Given the description of an element on the screen output the (x, y) to click on. 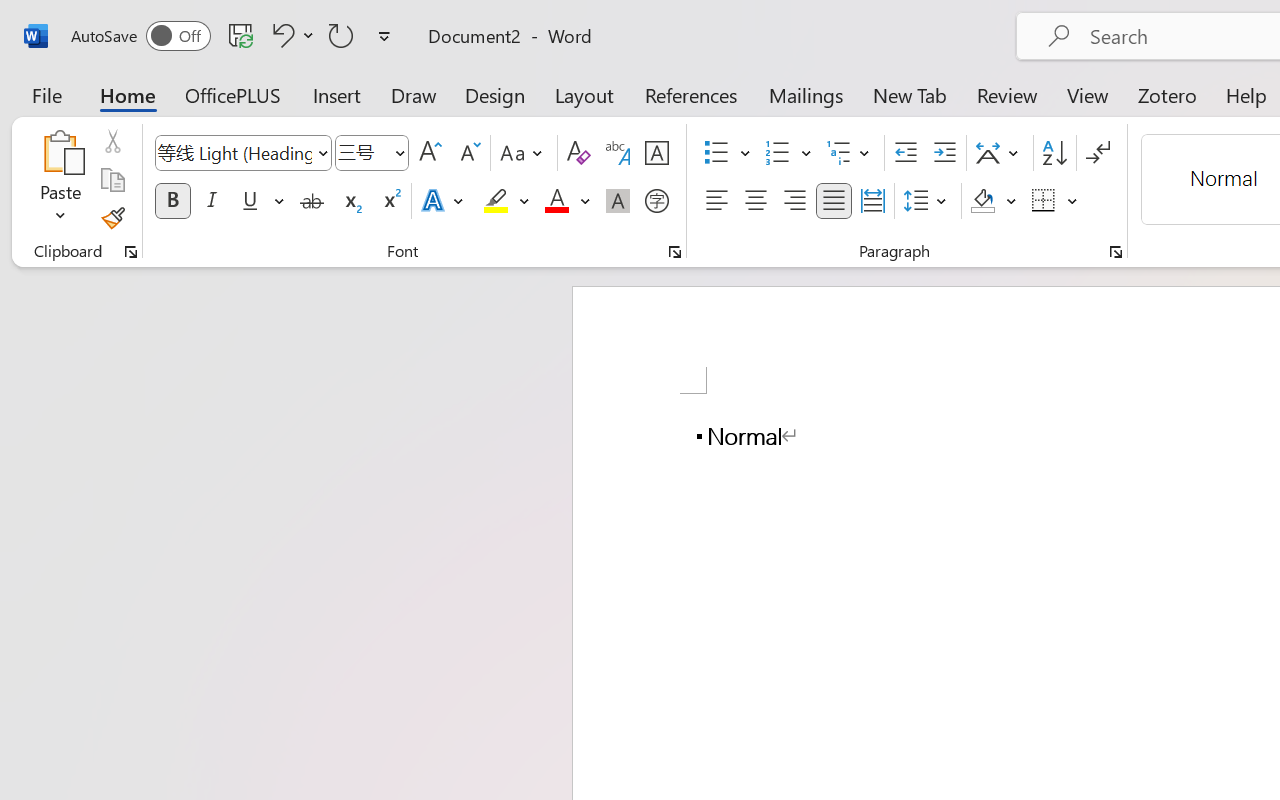
Text Effects and Typography (444, 201)
Open (399, 152)
Numbering (778, 153)
AutoSave (140, 35)
File Tab (46, 94)
View (1087, 94)
Borders (1055, 201)
Distributed (872, 201)
Copy (112, 179)
Justify (834, 201)
Repeat Doc Close (341, 35)
Sort... (1054, 153)
Quick Access Toolbar (233, 36)
Font Color Red (556, 201)
Cut (112, 141)
